Given the description of an element on the screen output the (x, y) to click on. 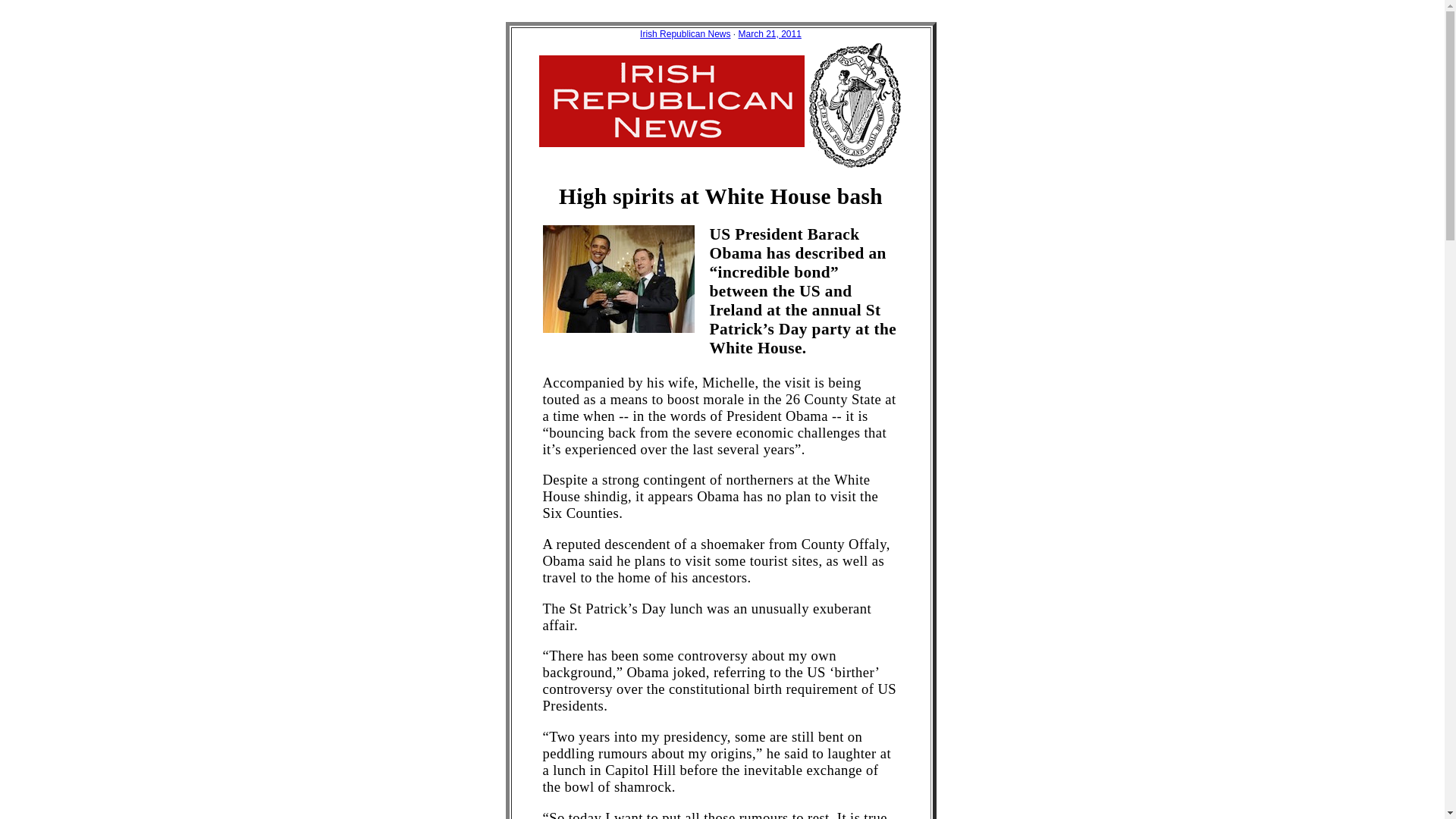
March 21, 2011 (770, 33)
Irish Republican News (685, 33)
